Given the description of an element on the screen output the (x, y) to click on. 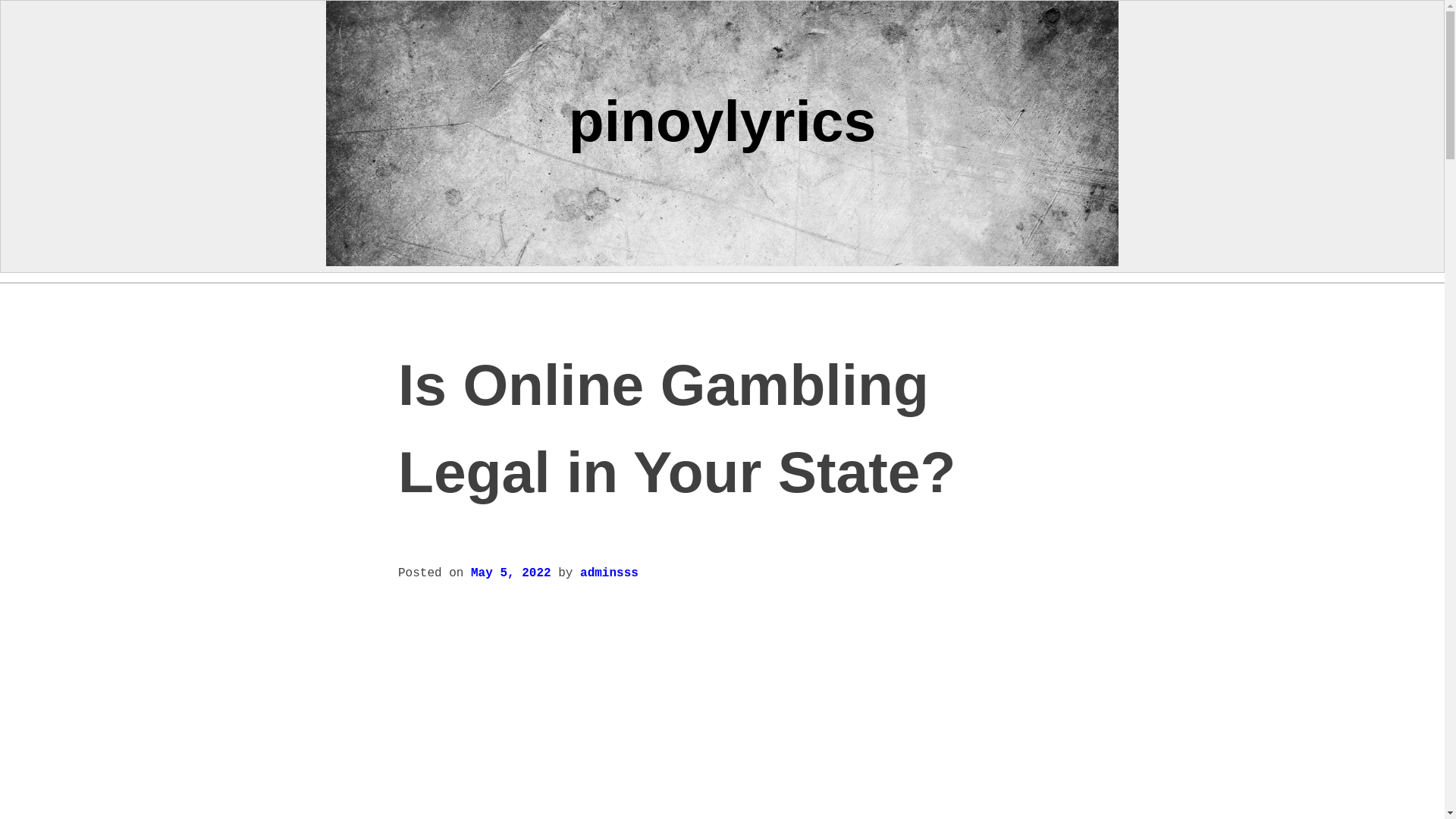
May 5, 2022 (510, 572)
pinoylyrics (722, 120)
adminsss (609, 572)
